Given the description of an element on the screen output the (x, y) to click on. 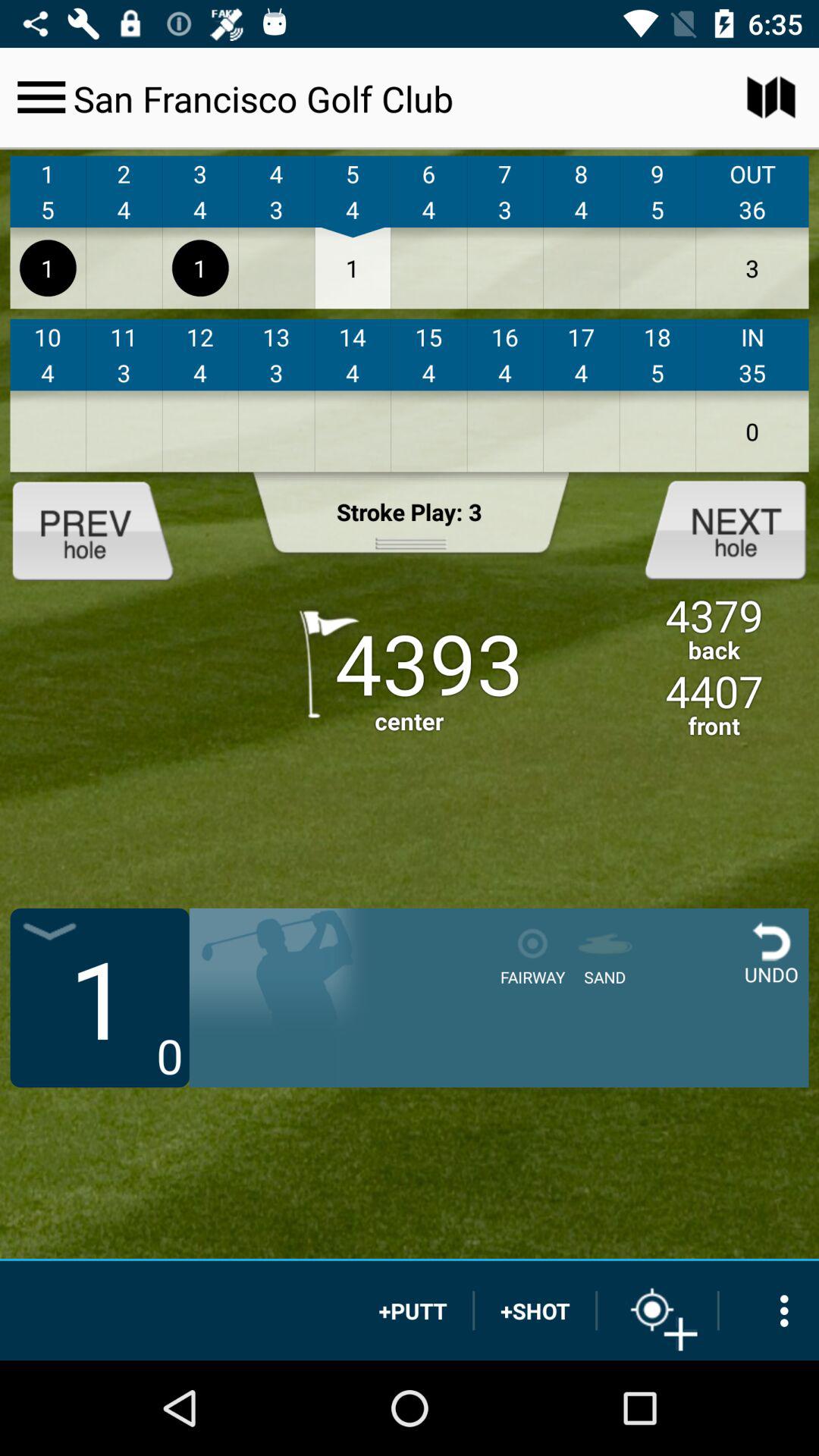
click on next (712, 528)
